Given the description of an element on the screen output the (x, y) to click on. 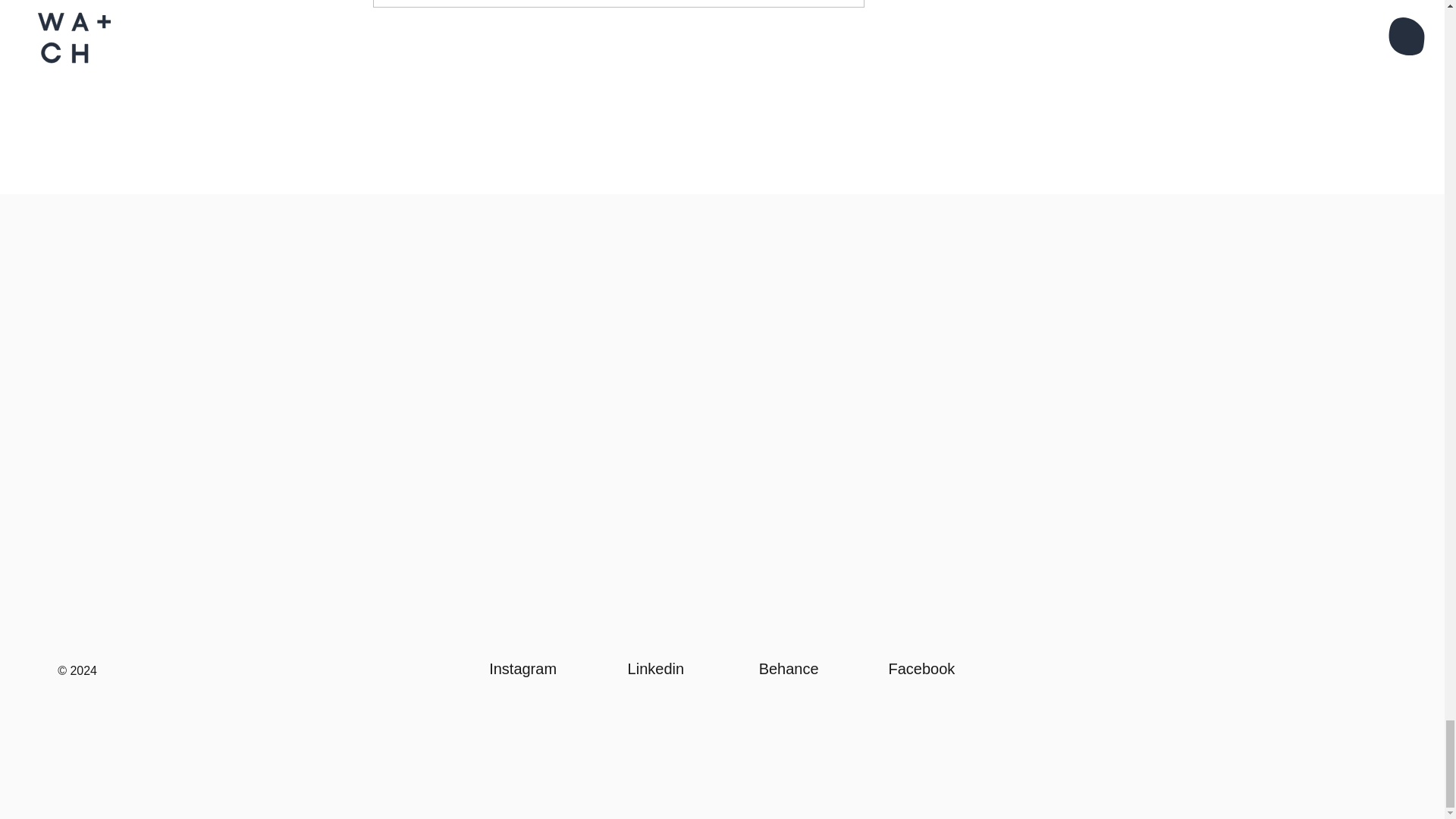
Instagram (522, 668)
Facebook (921, 668)
Behance (788, 668)
Linkedin (655, 668)
